Given the description of an element on the screen output the (x, y) to click on. 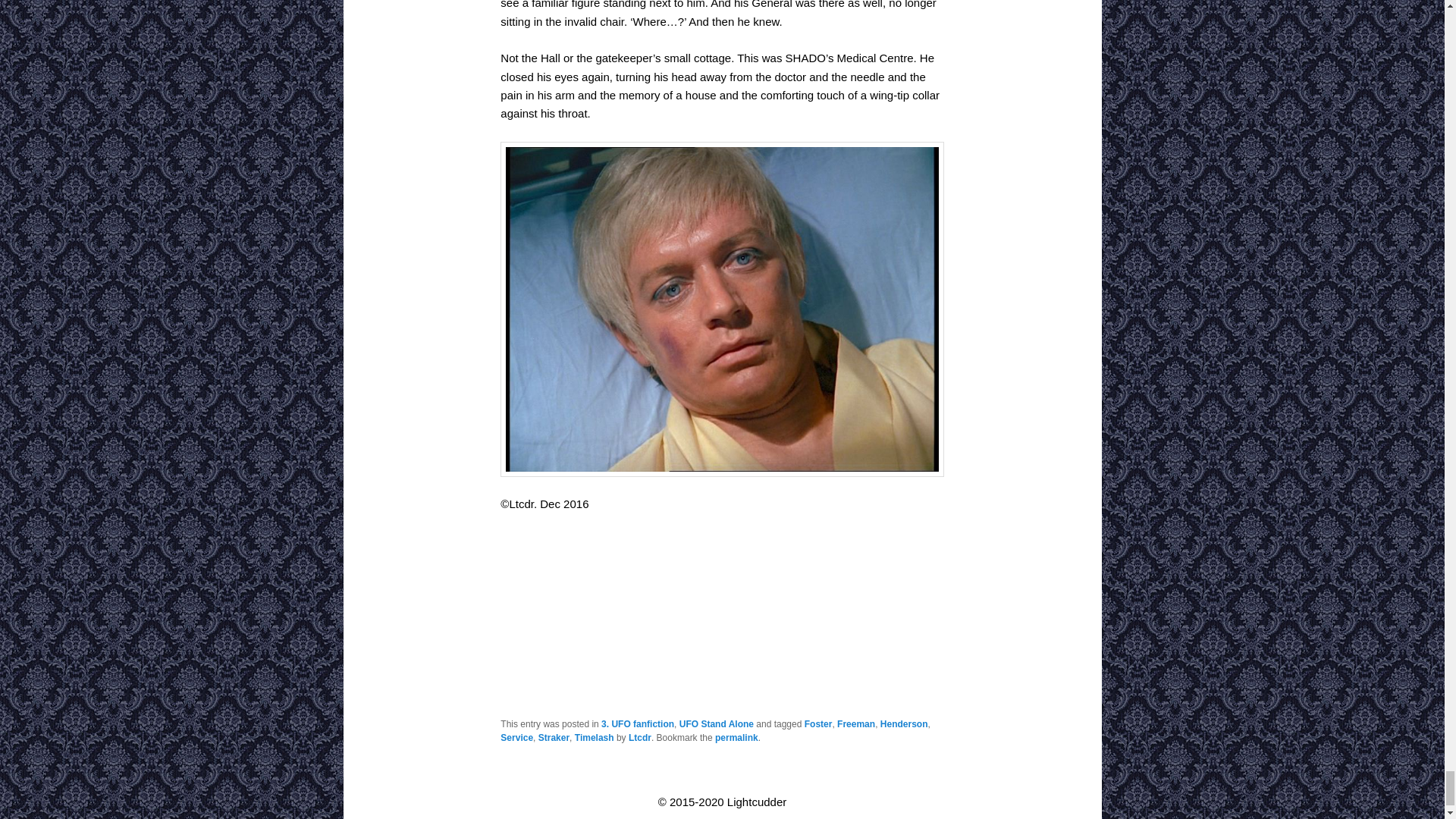
permalink (736, 737)
Henderson (904, 724)
Ltcdr (639, 737)
Straker (553, 737)
Foster (818, 724)
Permalink to In the Service of Others (736, 737)
Freeman (856, 724)
Timelash (594, 737)
3. UFO fanfiction (637, 724)
UFO Stand Alone (716, 724)
Service (516, 737)
